Given the description of an element on the screen output the (x, y) to click on. 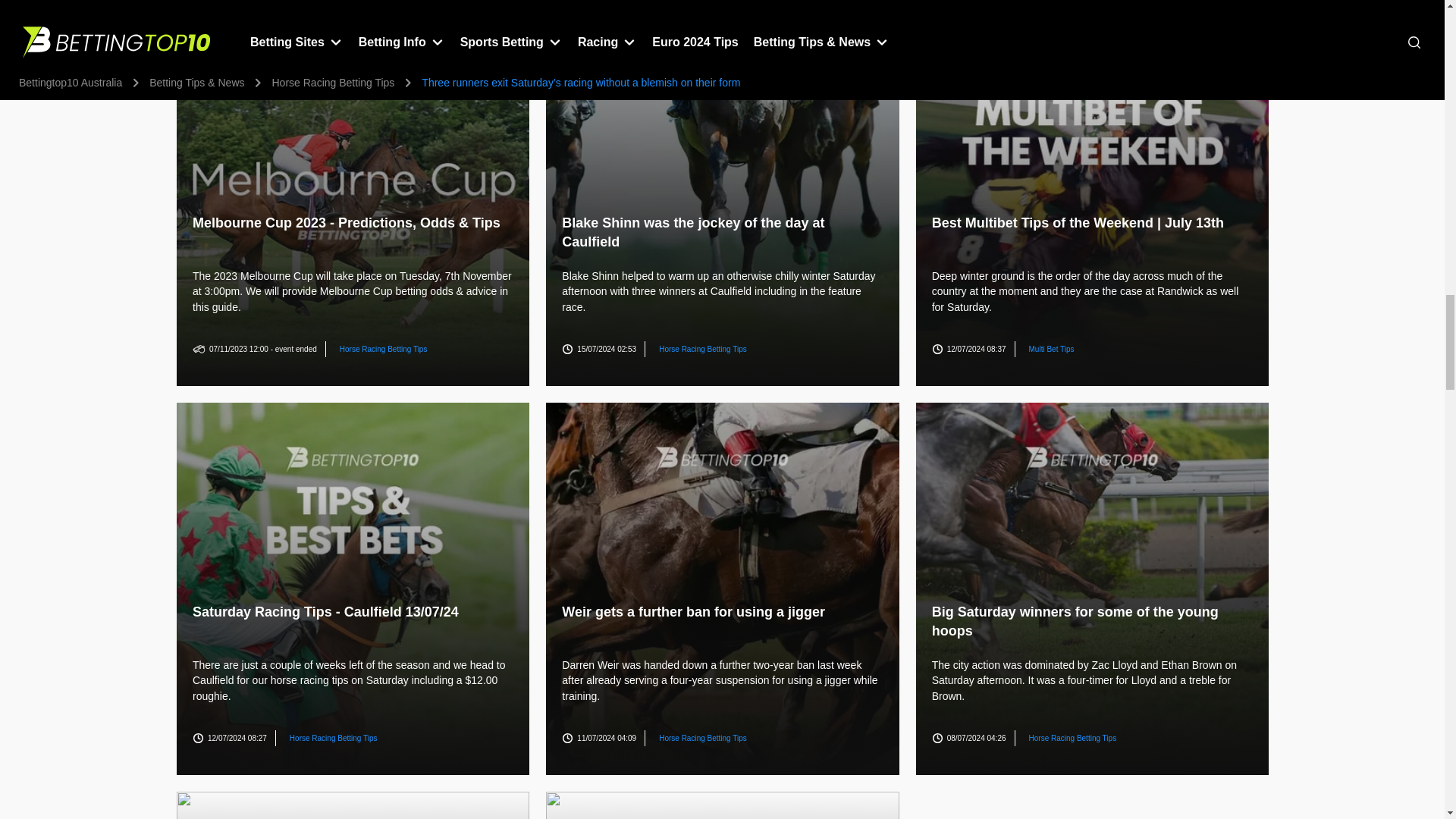
Horse-Racing-Melbourne-Cup (352, 199)
